Given the description of an element on the screen output the (x, y) to click on. 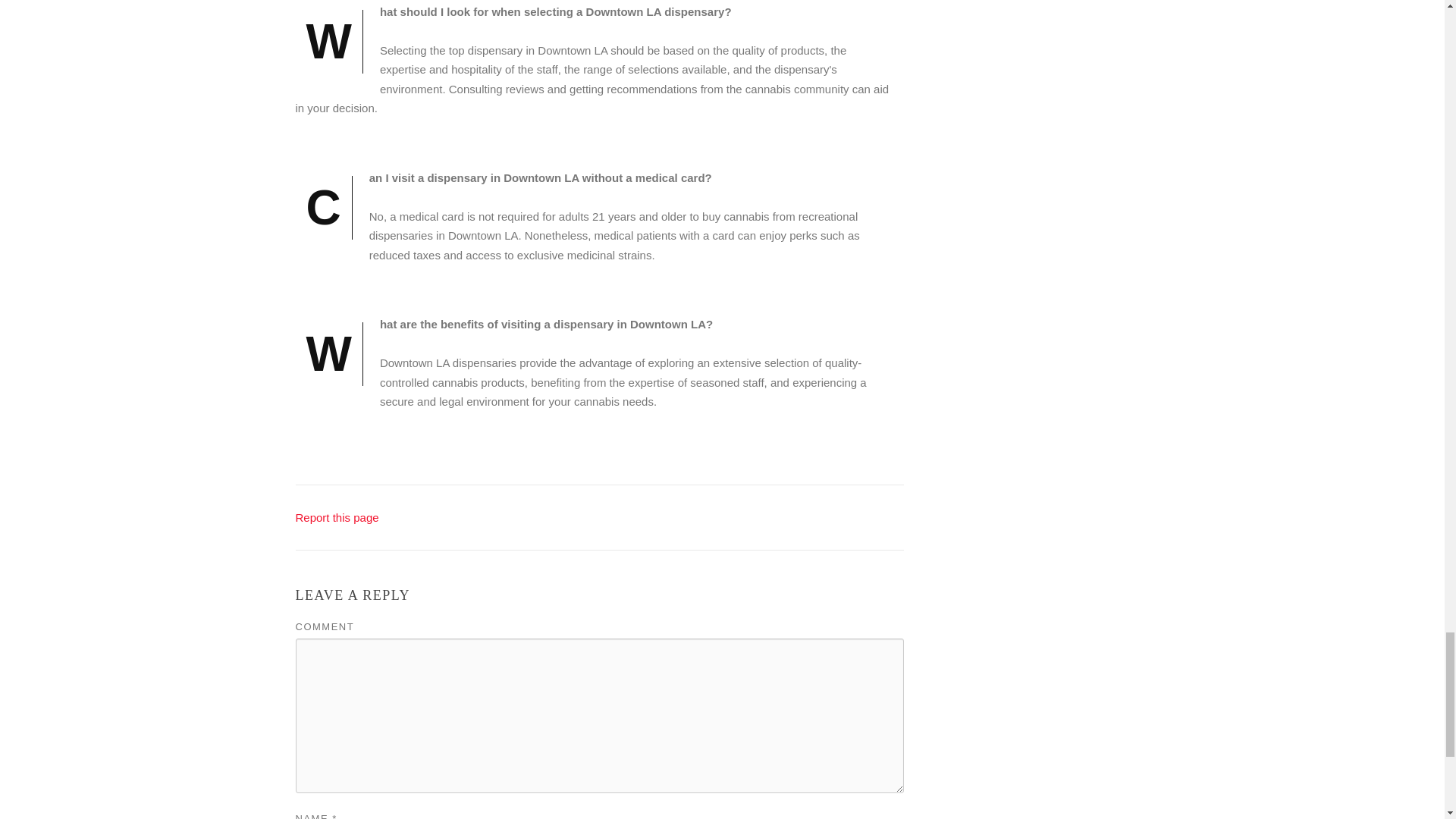
Report this page (336, 517)
